Given the description of an element on the screen output the (x, y) to click on. 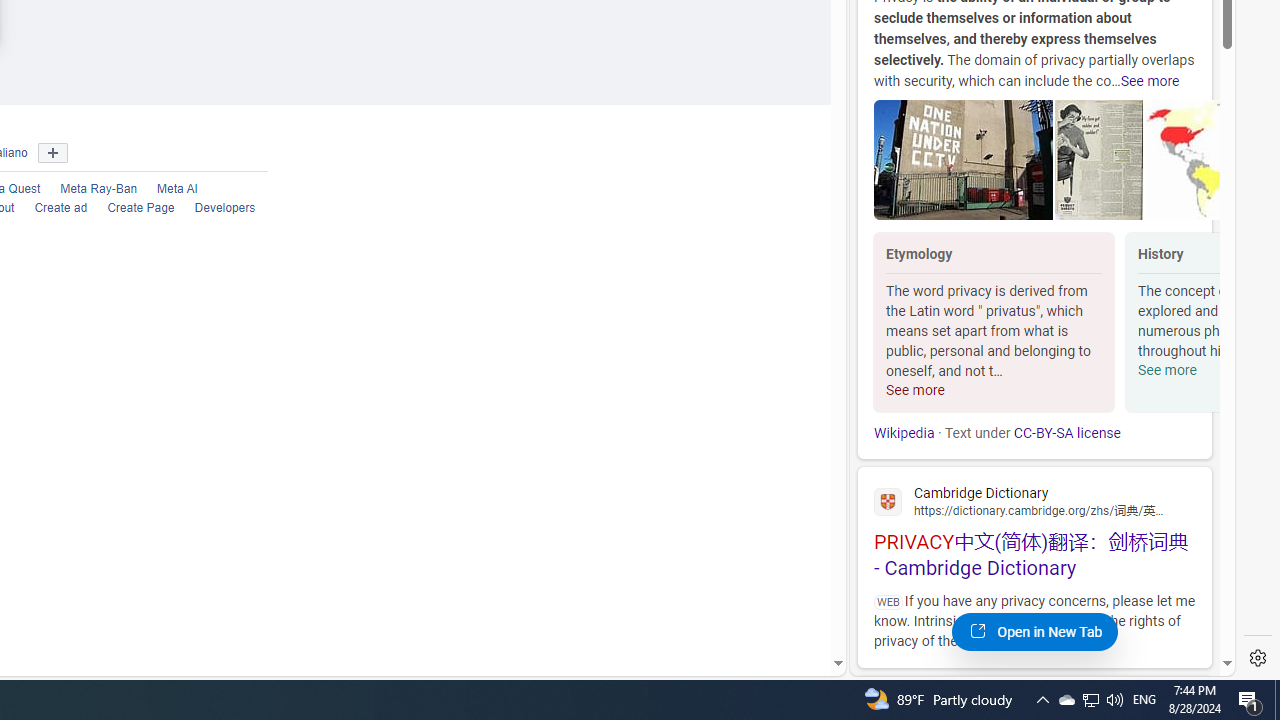
Meta Ray-Ban (99, 189)
Create ad (51, 208)
Developers (225, 208)
Create Page (141, 208)
Meta AI (167, 190)
Cambridge Dictionary (1034, 500)
Create ad (61, 208)
Meta Ray-Ban (88, 190)
Global web icon (888, 501)
Create Page (131, 208)
